Given the description of an element on the screen output the (x, y) to click on. 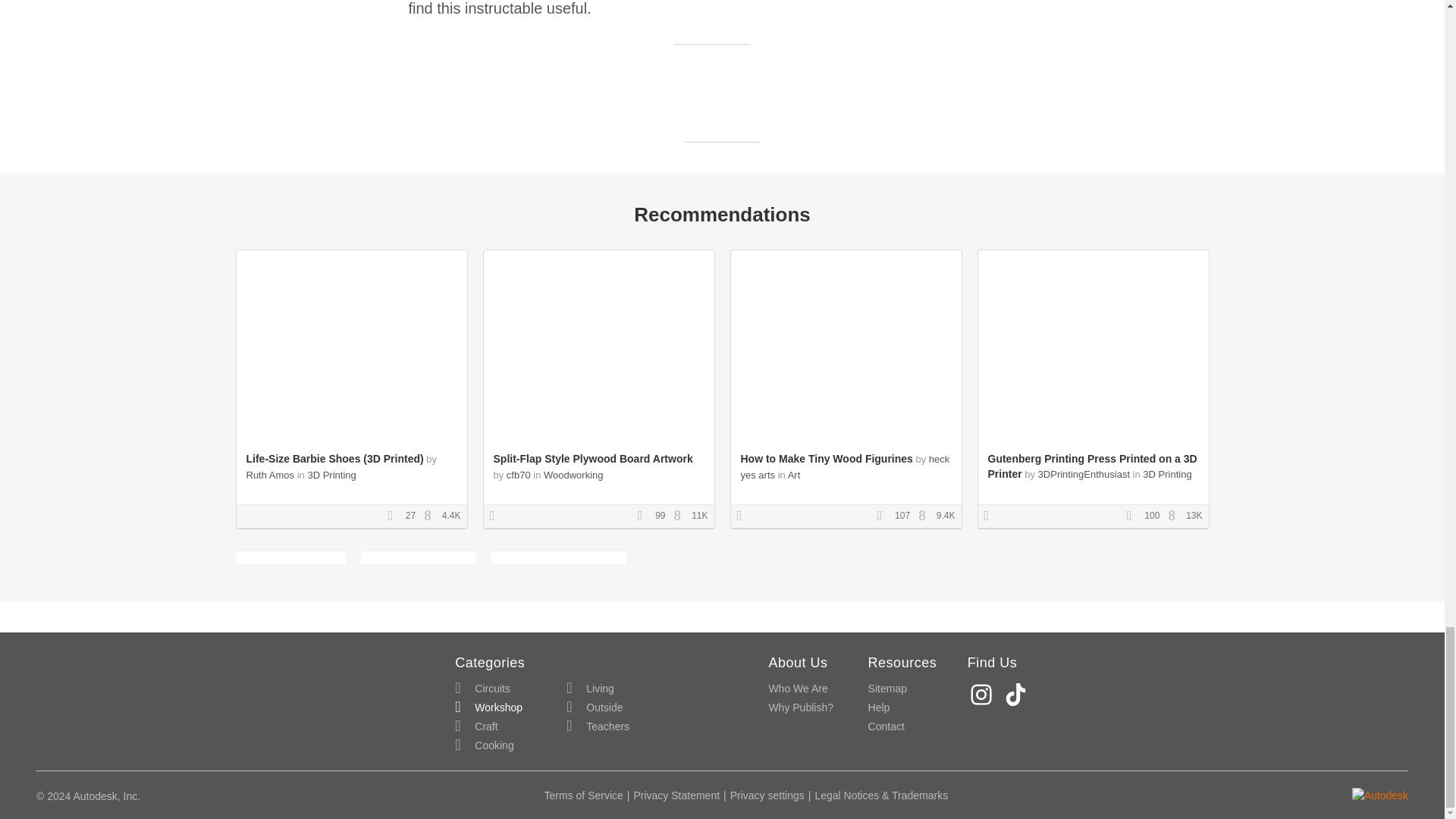
Views Count (925, 516)
3D Printing (1166, 473)
Favorites Count (644, 516)
TikTok (1018, 694)
Views Count (681, 516)
Gutenberg Printing Press Printed on a 3D Printer (1091, 465)
Contest Winner (497, 516)
Contest Winner (991, 516)
How to Make Tiny Wood Figurines (825, 458)
Contest Winner (744, 516)
